Given the description of an element on the screen output the (x, y) to click on. 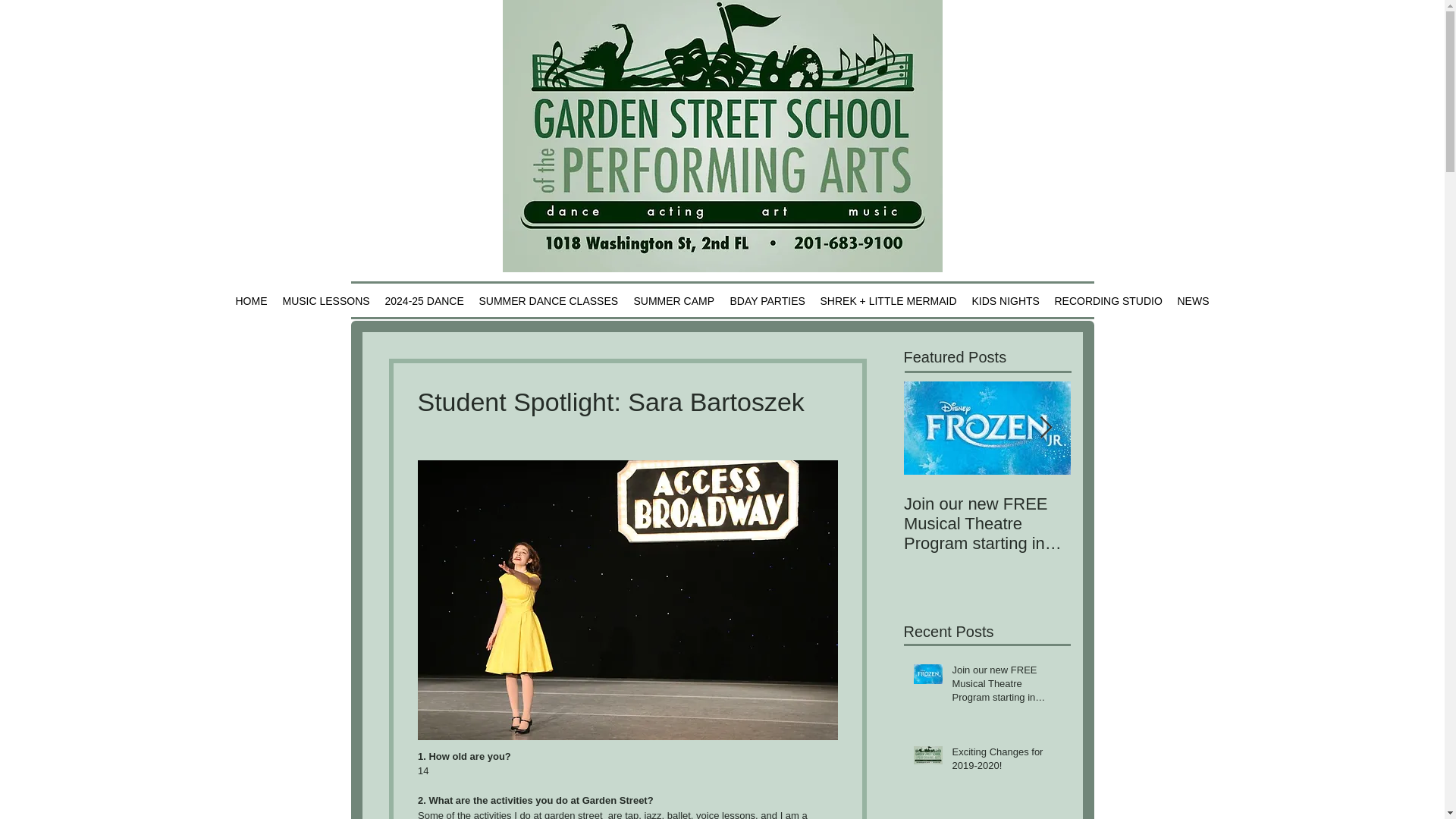
Exciting Changes for 2019-2020! (1153, 513)
SUMMER CAMP (674, 301)
RECORDING STUDIO (1107, 301)
NEWS (1192, 301)
HOME (251, 301)
BDAY PARTIES (767, 301)
2024-25 DANCE (424, 301)
unnamed.jpg (722, 135)
KIDS NIGHTS (1004, 301)
SUMMER DANCE CLASSES (548, 301)
MUSIC LESSONS (326, 301)
